Given the description of an element on the screen output the (x, y) to click on. 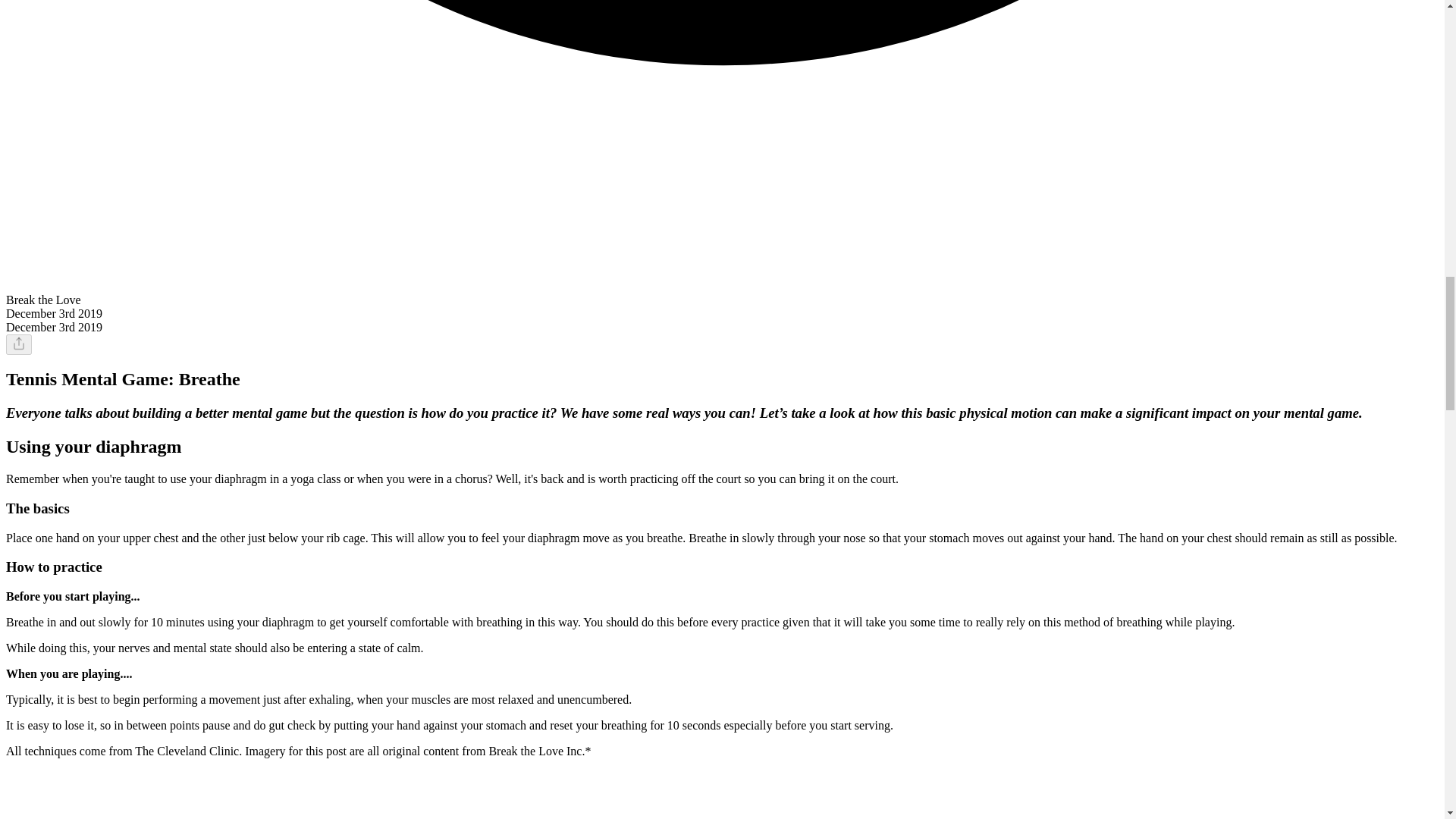
toggle menu (18, 344)
